Given the description of an element on the screen output the (x, y) to click on. 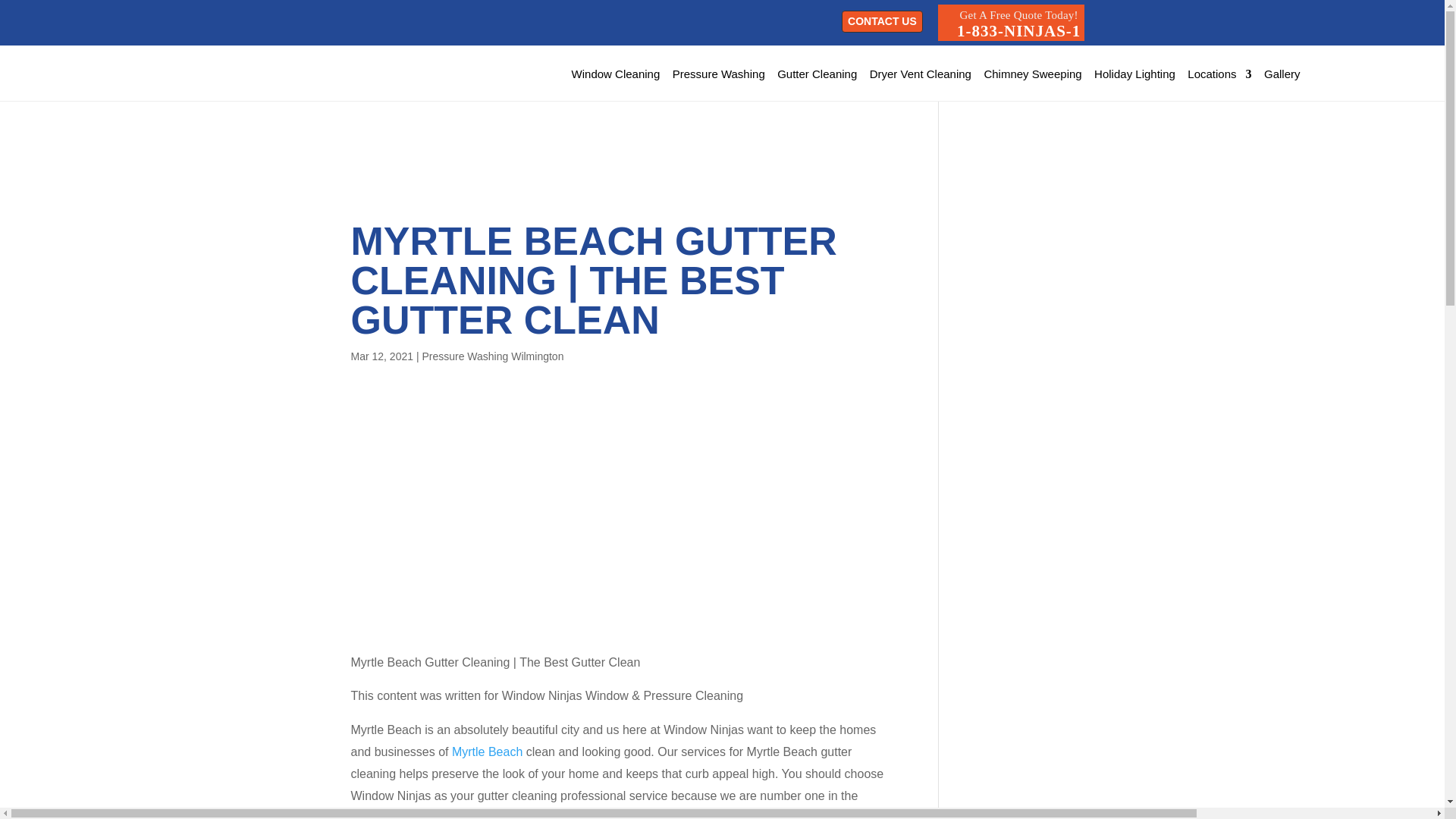
Holiday Lighting (1134, 73)
Window Cleaning (616, 73)
Dryer Vent Cleaning (920, 73)
Locations (1219, 73)
CONTACT US (1010, 22)
Gutter Cleaning (882, 21)
Pressure Washing (817, 73)
Chimney Sweeping (718, 73)
